Given the description of an element on the screen output the (x, y) to click on. 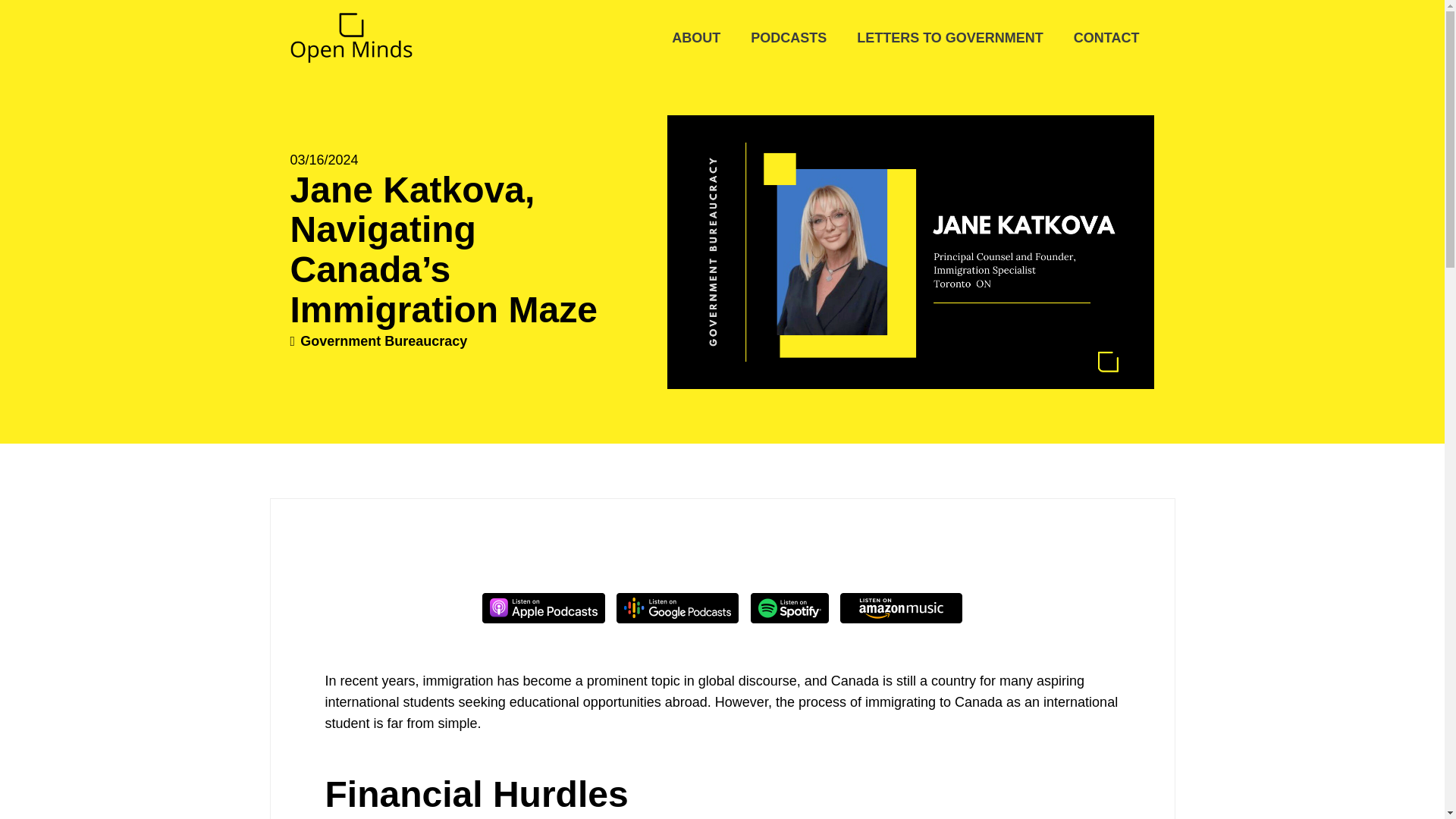
ABOUT (695, 38)
CONTACT (1106, 38)
PODCASTS (788, 38)
Government Bureaucracy (383, 340)
LETTERS TO GOVERNMENT (949, 38)
